Given the description of an element on the screen output the (x, y) to click on. 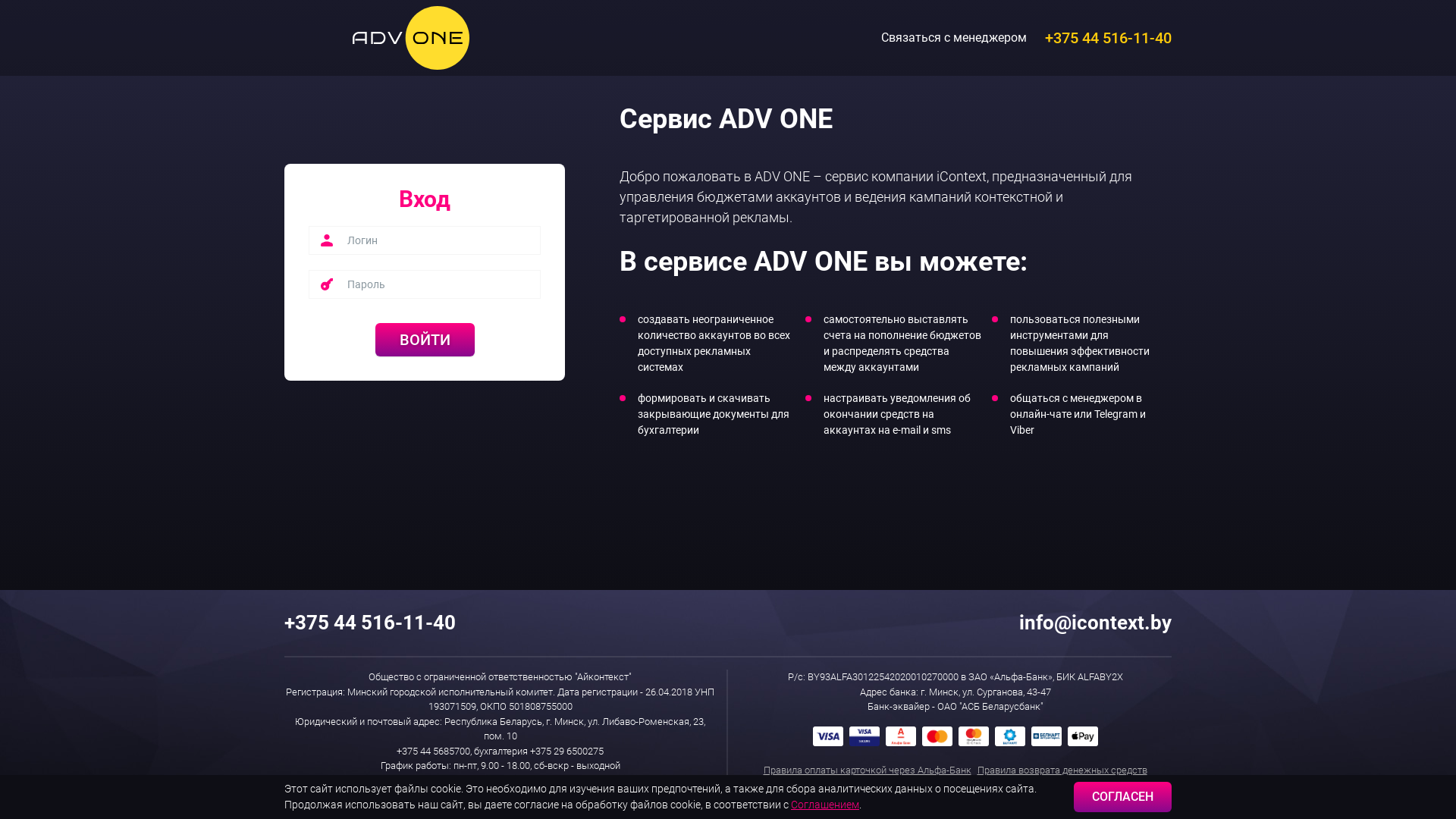
+375 44 516-11-40 Element type: text (367, 622)
info@icontext.by Element type: text (1091, 622)
+375 44 516-11-40 Element type: text (1106, 37)
